Given the description of an element on the screen output the (x, y) to click on. 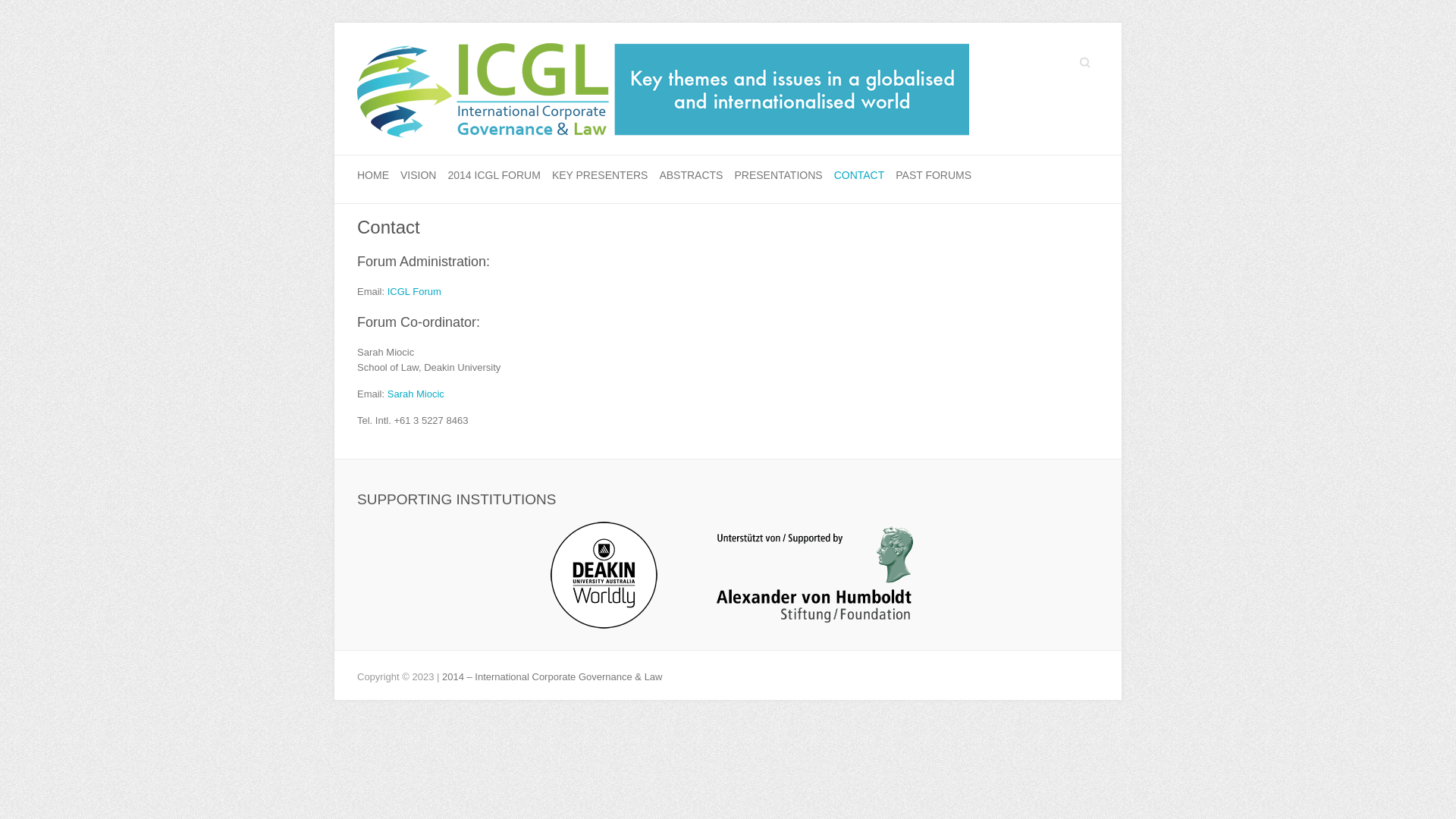
Sarah Miocic Element type: text (415, 393)
2014 ICGL FORUM Element type: text (493, 176)
CONTACT Element type: text (859, 176)
ICGL Forum Element type: text (414, 291)
VISION Element type: text (418, 176)
ABSTRACTS Element type: text (690, 176)
HOME Element type: text (373, 176)
PRESENTATIONS Element type: text (778, 176)
KEY PRESENTERS Element type: text (600, 176)
PAST FORUMS Element type: text (933, 176)
